Given the description of an element on the screen output the (x, y) to click on. 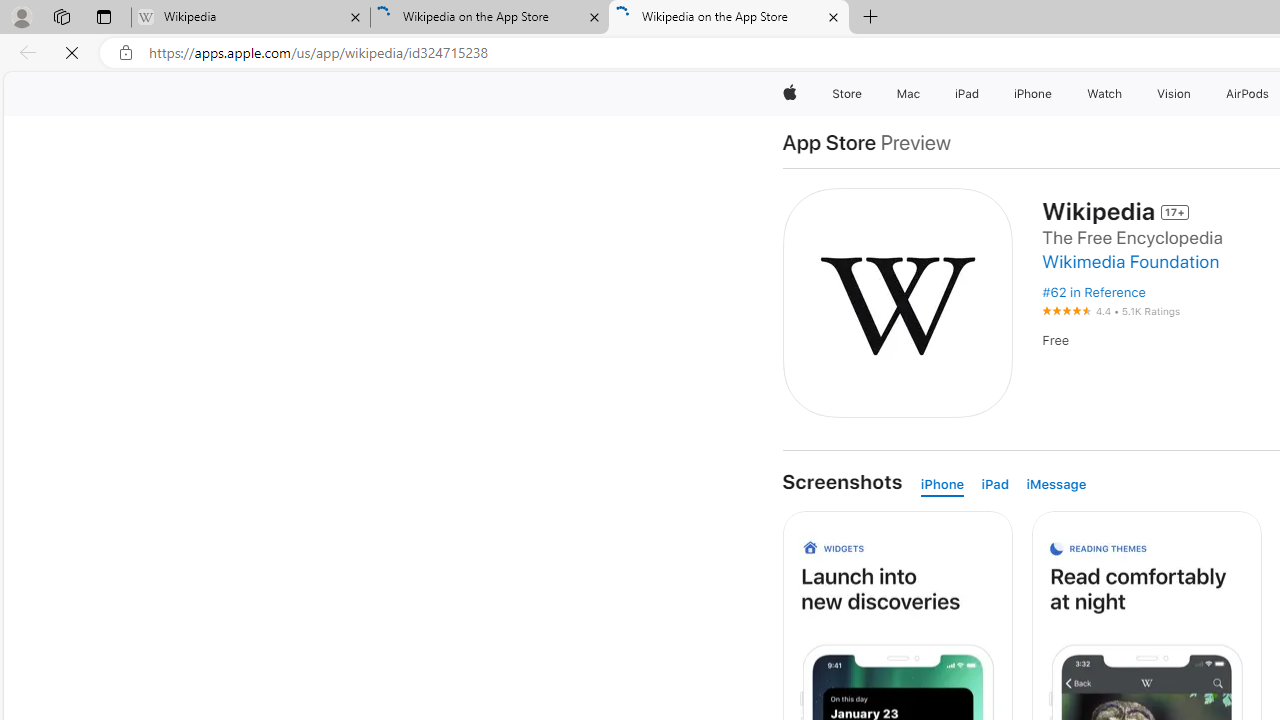
iPhone (946, 484)
Vision (1174, 93)
App Store (833, 141)
Mac (908, 93)
iMessage (1060, 484)
iMessage (1060, 484)
#62 in Reference (1090, 292)
iPad (999, 484)
